Given the description of an element on the screen output the (x, y) to click on. 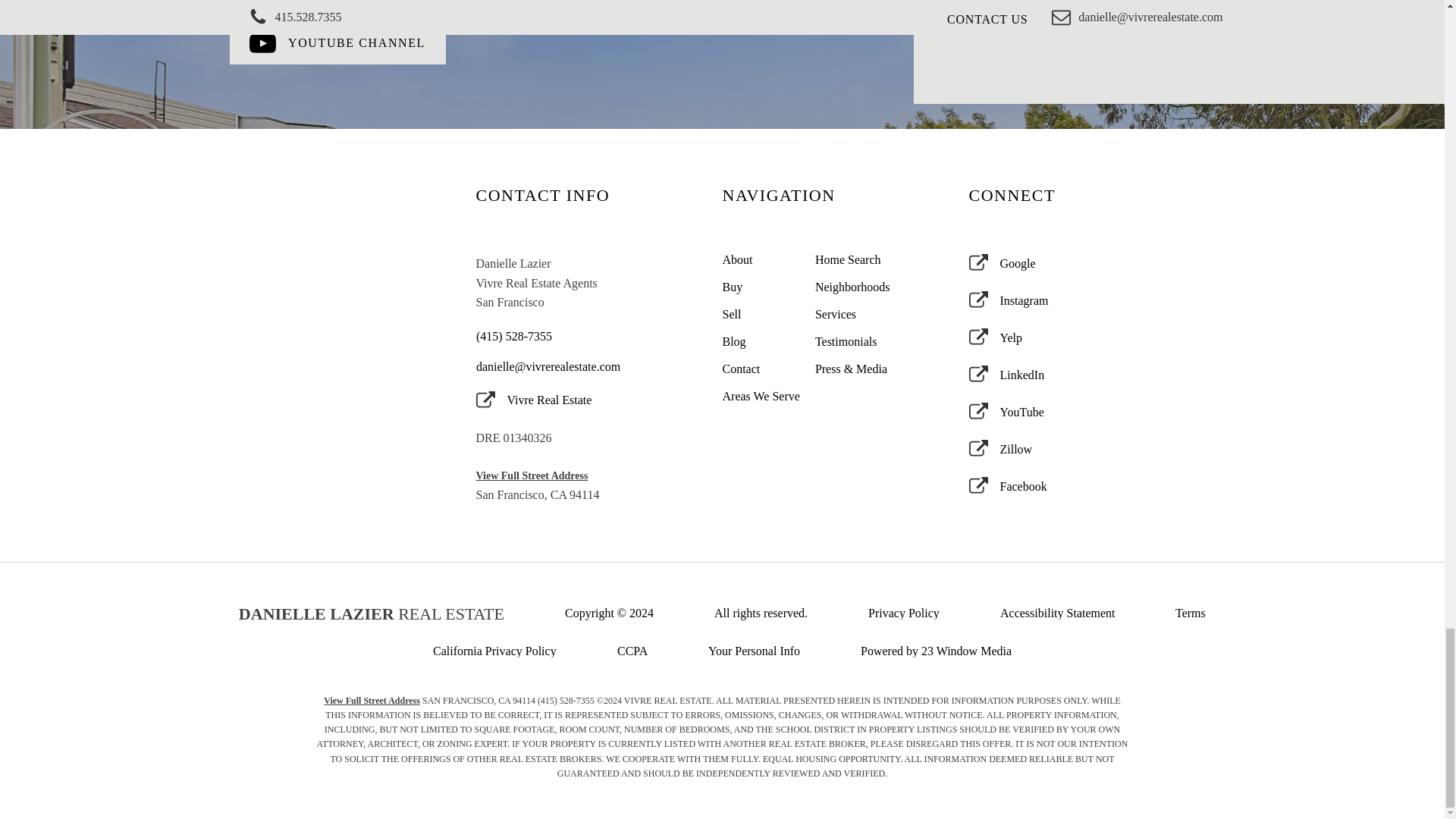
Buy (760, 287)
Home Search (853, 259)
Testimonials (853, 341)
Instagram (1008, 300)
About (760, 259)
Blog (760, 341)
Contact (760, 369)
YOUTUBE CHANNEL (336, 43)
Google (1002, 262)
LinkedIn (1007, 374)
